Given the description of an element on the screen output the (x, y) to click on. 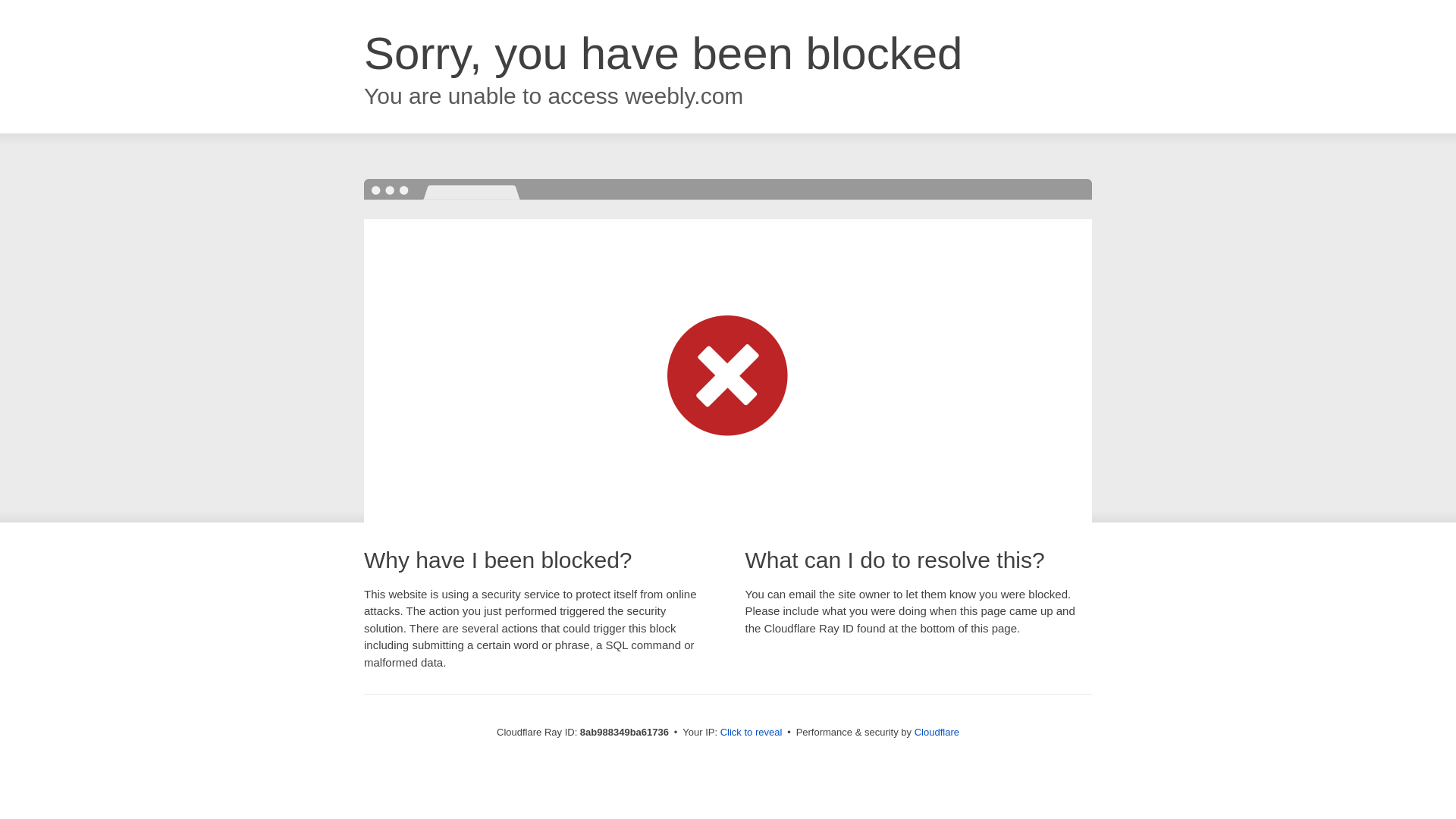
Cloudflare (936, 731)
Click to reveal (751, 732)
